Given the description of an element on the screen output the (x, y) to click on. 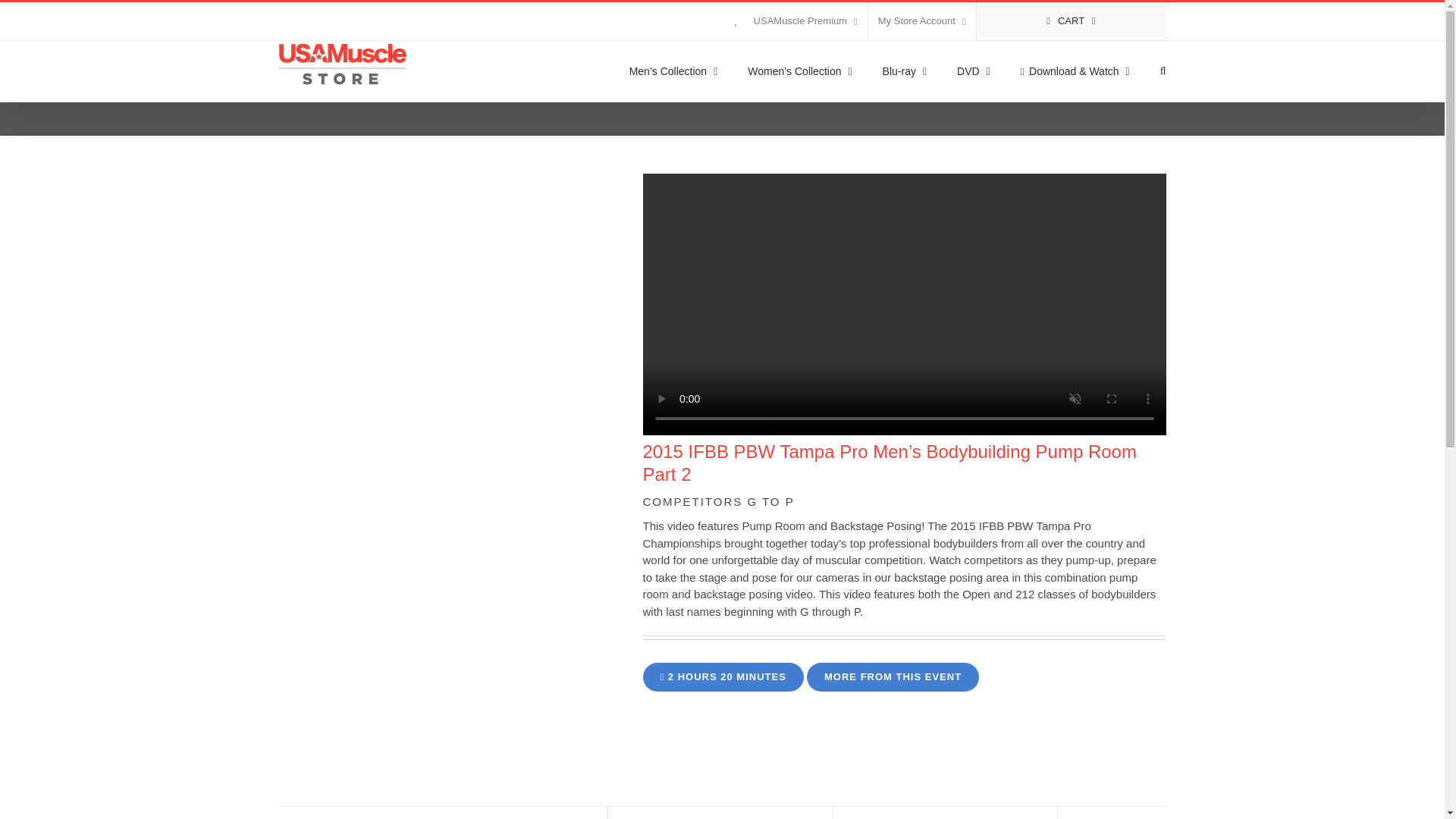
CART (1071, 21)
My Store Account (921, 21)
USAMuscle Premium (795, 21)
